Given the description of an element on the screen output the (x, y) to click on. 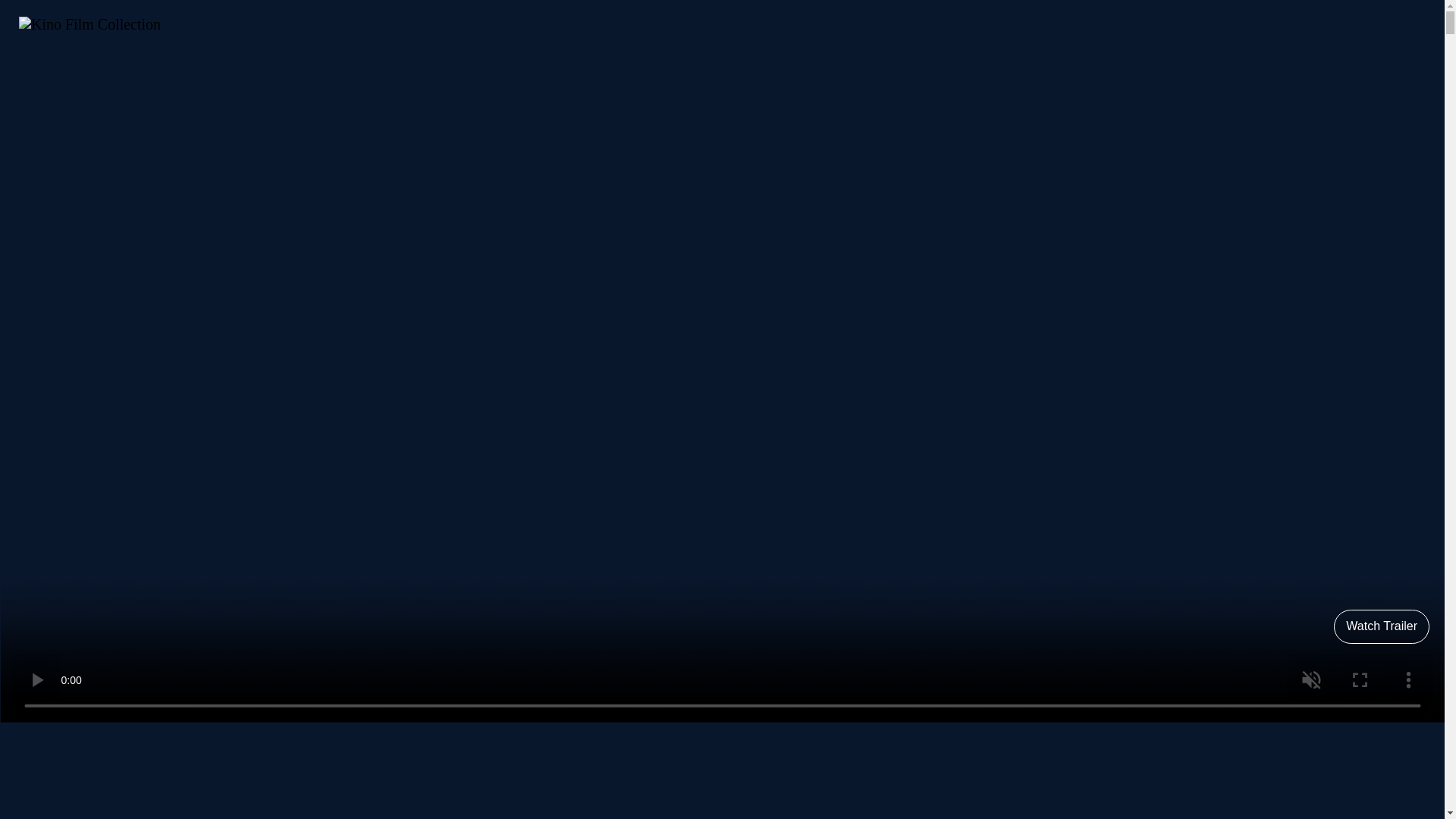
Watch Trailer (1381, 626)
